Given the description of an element on the screen output the (x, y) to click on. 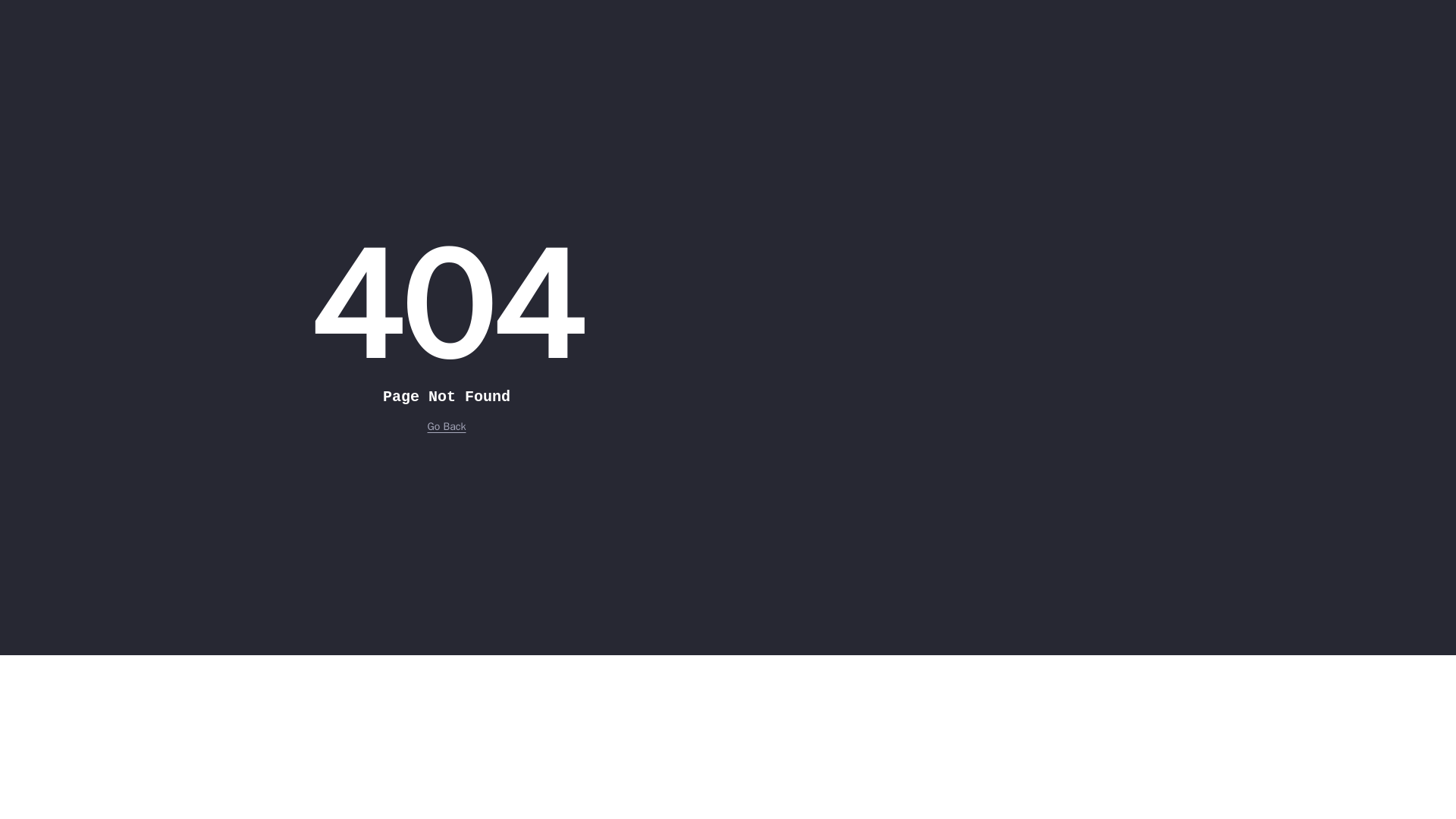
Skip to Main Content (5, 5)
Go Back (446, 426)
